Given the description of an element on the screen output the (x, y) to click on. 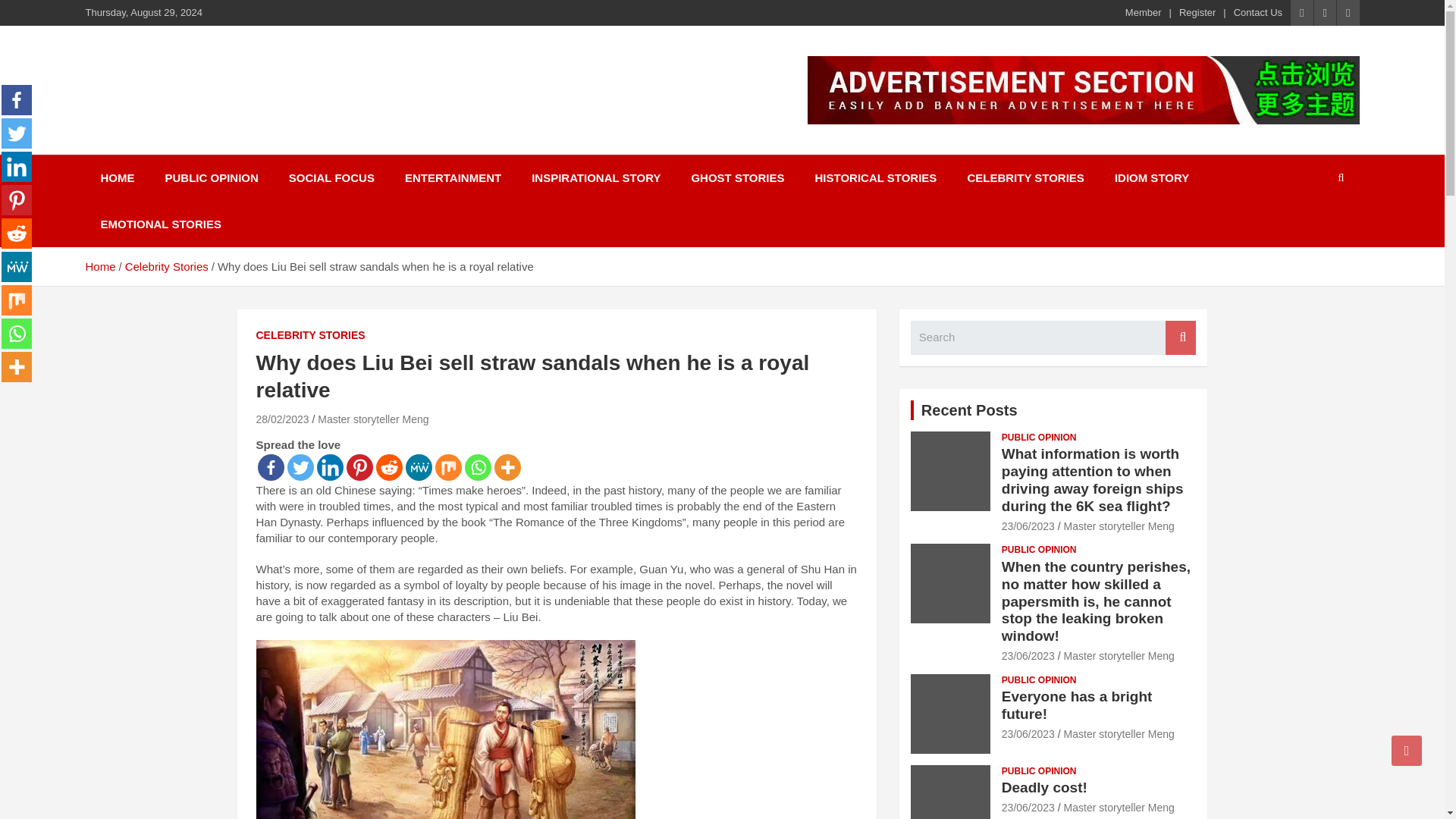
Pinterest (359, 467)
Facebook (270, 467)
CELEBRITY STORIES (310, 335)
SOCIAL FOCUS (331, 177)
Facebook (16, 100)
Pinterest (16, 200)
HOME (116, 177)
Linkedin (16, 166)
Twitter (16, 132)
CELEBRITY STORIES (1025, 177)
